Given the description of an element on the screen output the (x, y) to click on. 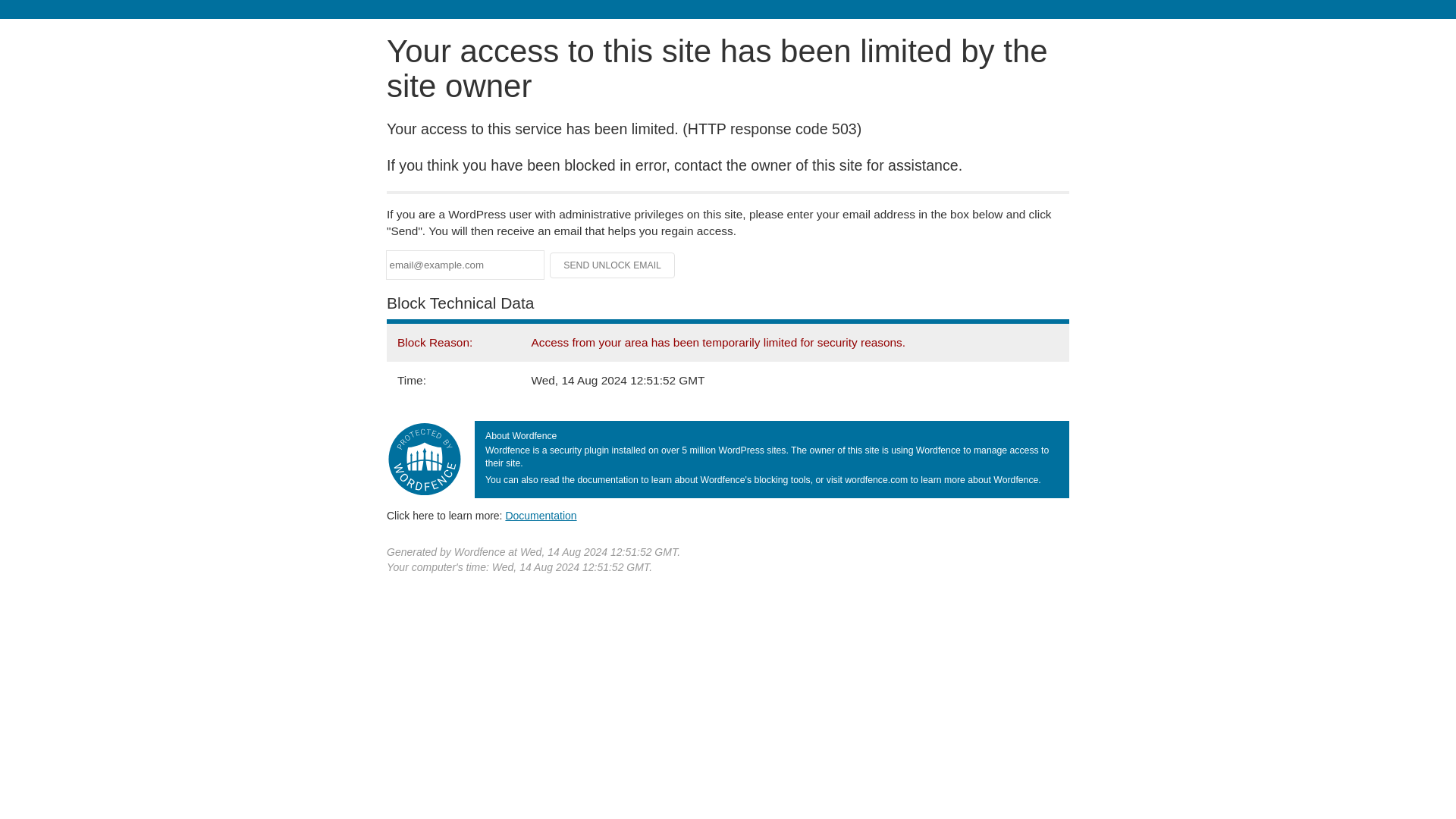
Send Unlock Email (612, 265)
Documentation (540, 515)
Send Unlock Email (612, 265)
